Given the description of an element on the screen output the (x, y) to click on. 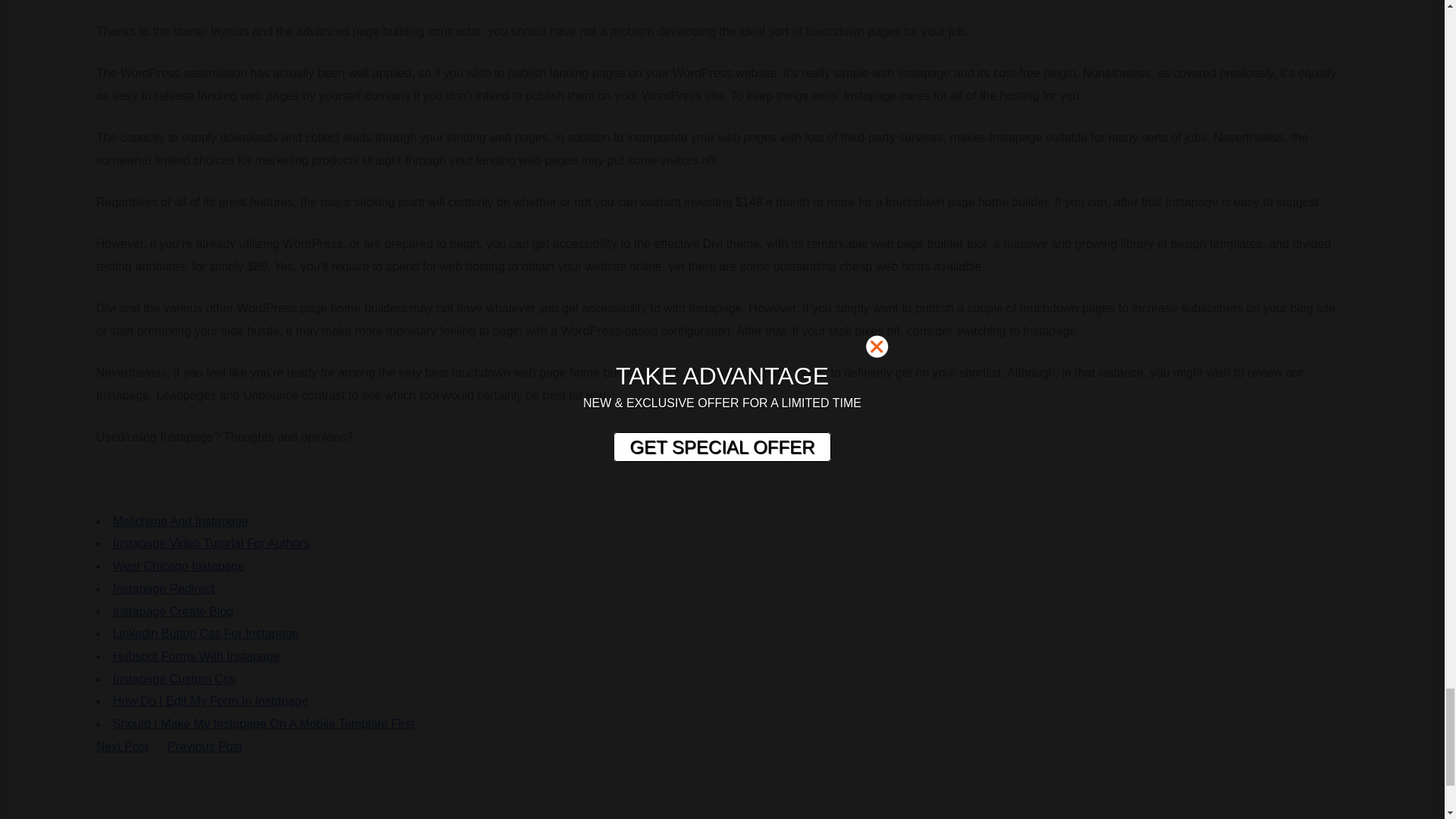
Mailchimp And Instapage (180, 521)
Instapage Redirect (163, 588)
Instapage Custom Css (174, 678)
Instapage Redirect (163, 588)
Instapage Video Tutorial For Authors (210, 543)
Hubspot Forms With Instapage (197, 656)
Linkedin Button Css For Instapage (205, 633)
Instapage Custom Css (174, 678)
Instapage Create Blog (172, 611)
Next Post (122, 746)
